Given the description of an element on the screen output the (x, y) to click on. 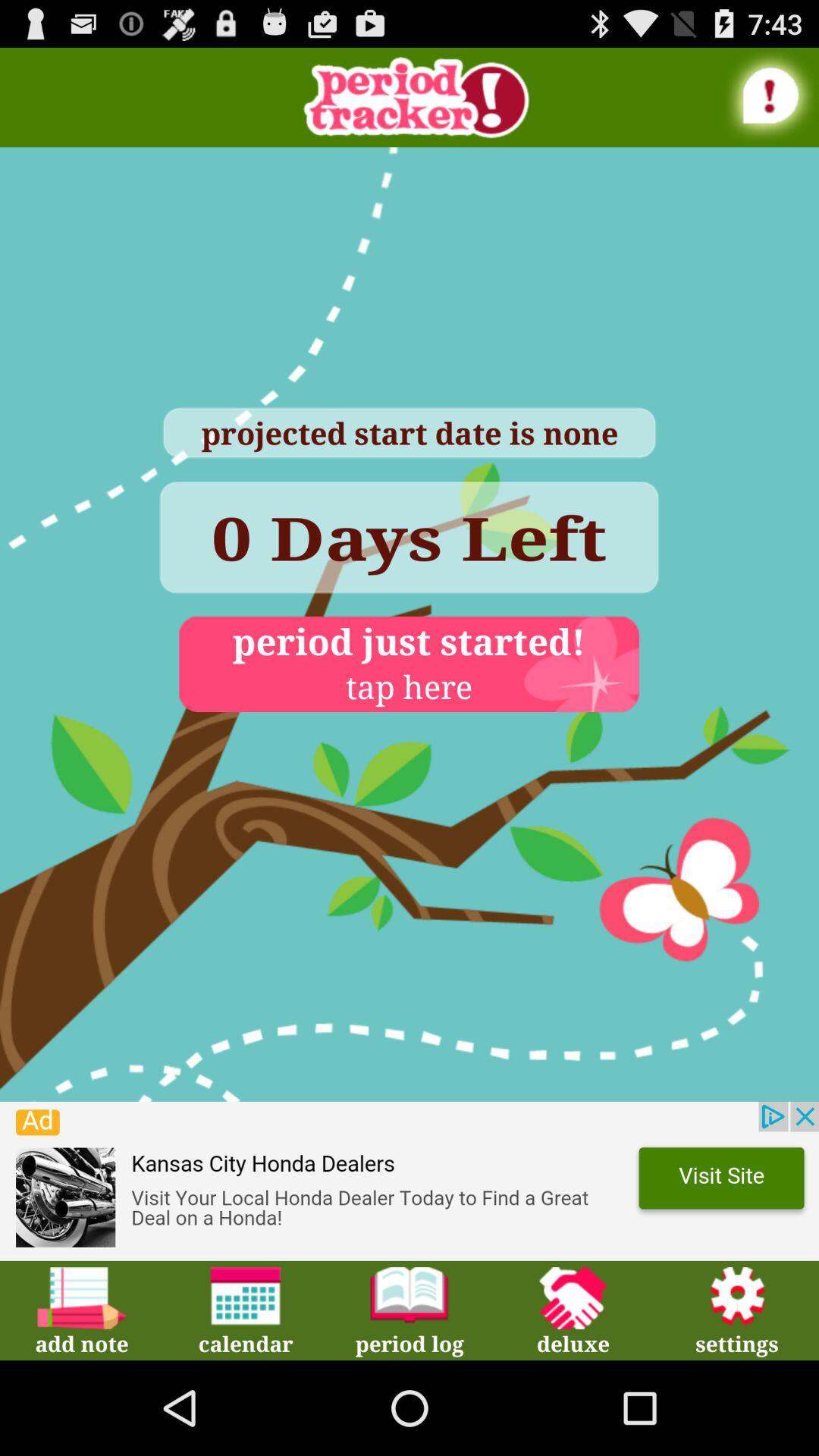
go to kansas city honda dealers advertisement (409, 1180)
